Given the description of an element on the screen output the (x, y) to click on. 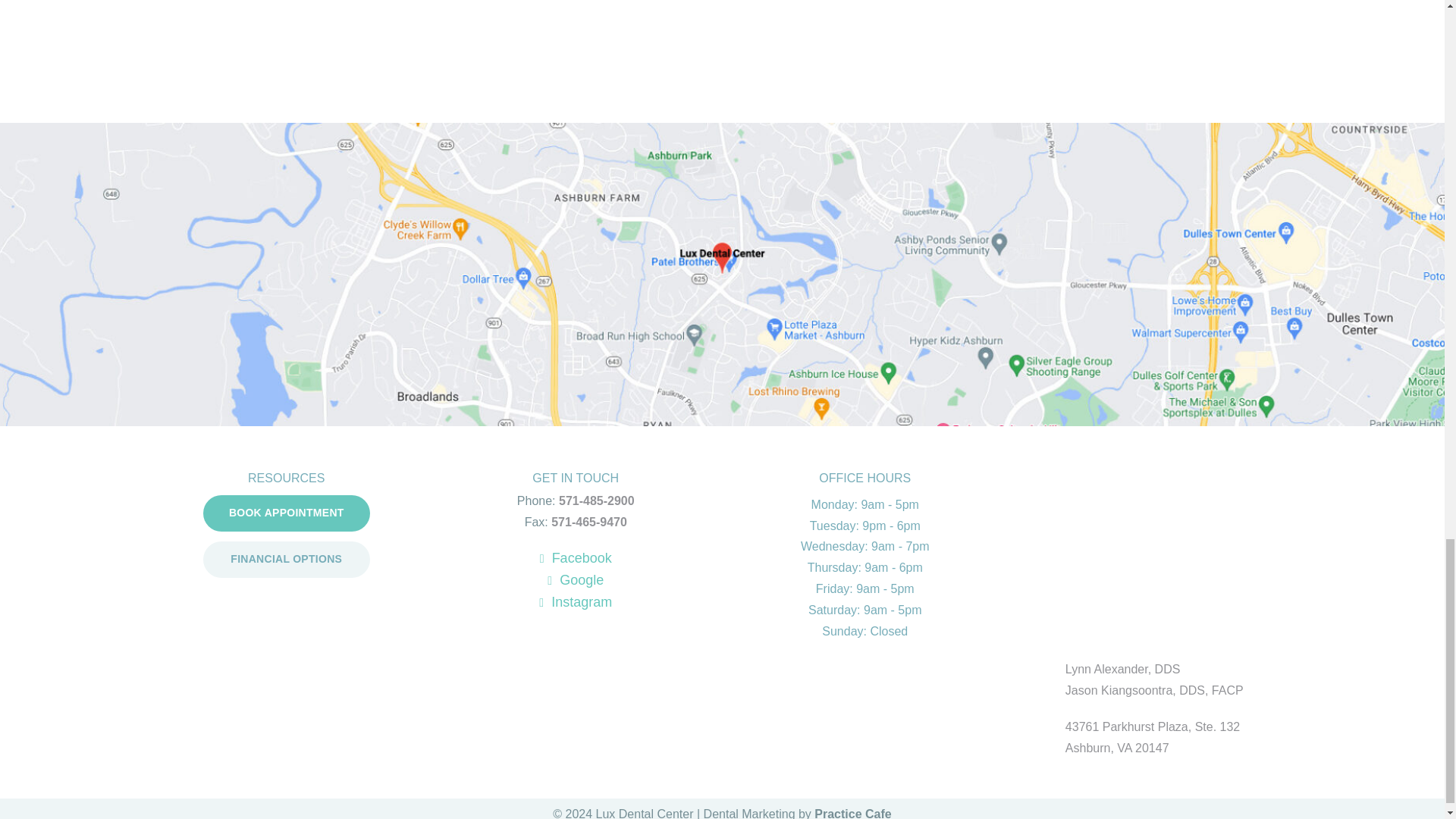
BOOK APPOINTMENT (286, 513)
571-465-9470 (589, 521)
571-485-2900 (596, 500)
FINANCIAL OPTIONS (286, 559)
